Given the description of an element on the screen output the (x, y) to click on. 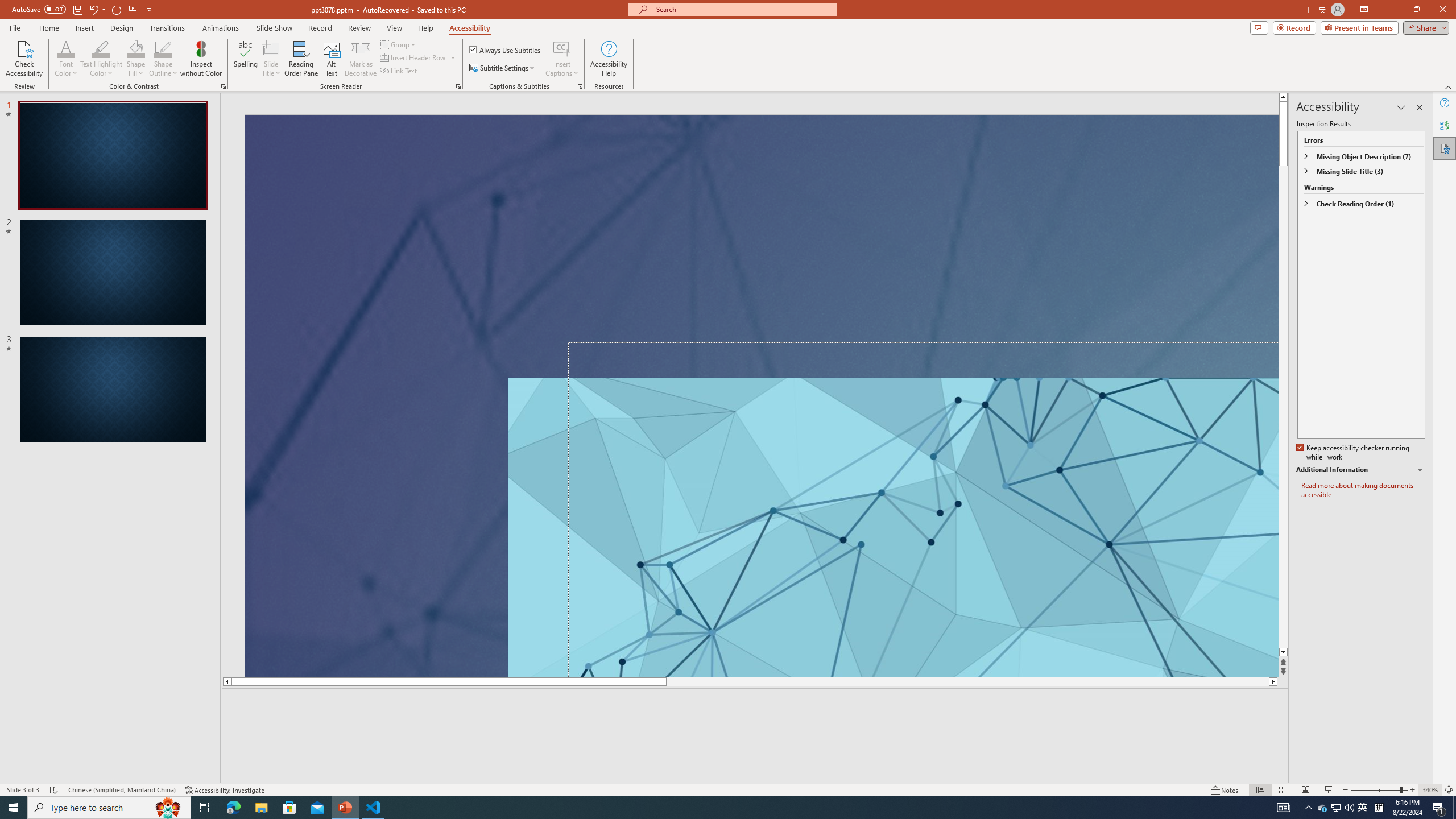
Screen Reader (458, 85)
Slide Notes (755, 705)
Subtitle Settings (502, 67)
Shape Outline (163, 48)
Insert Header Row (418, 56)
